Given the description of an element on the screen output the (x, y) to click on. 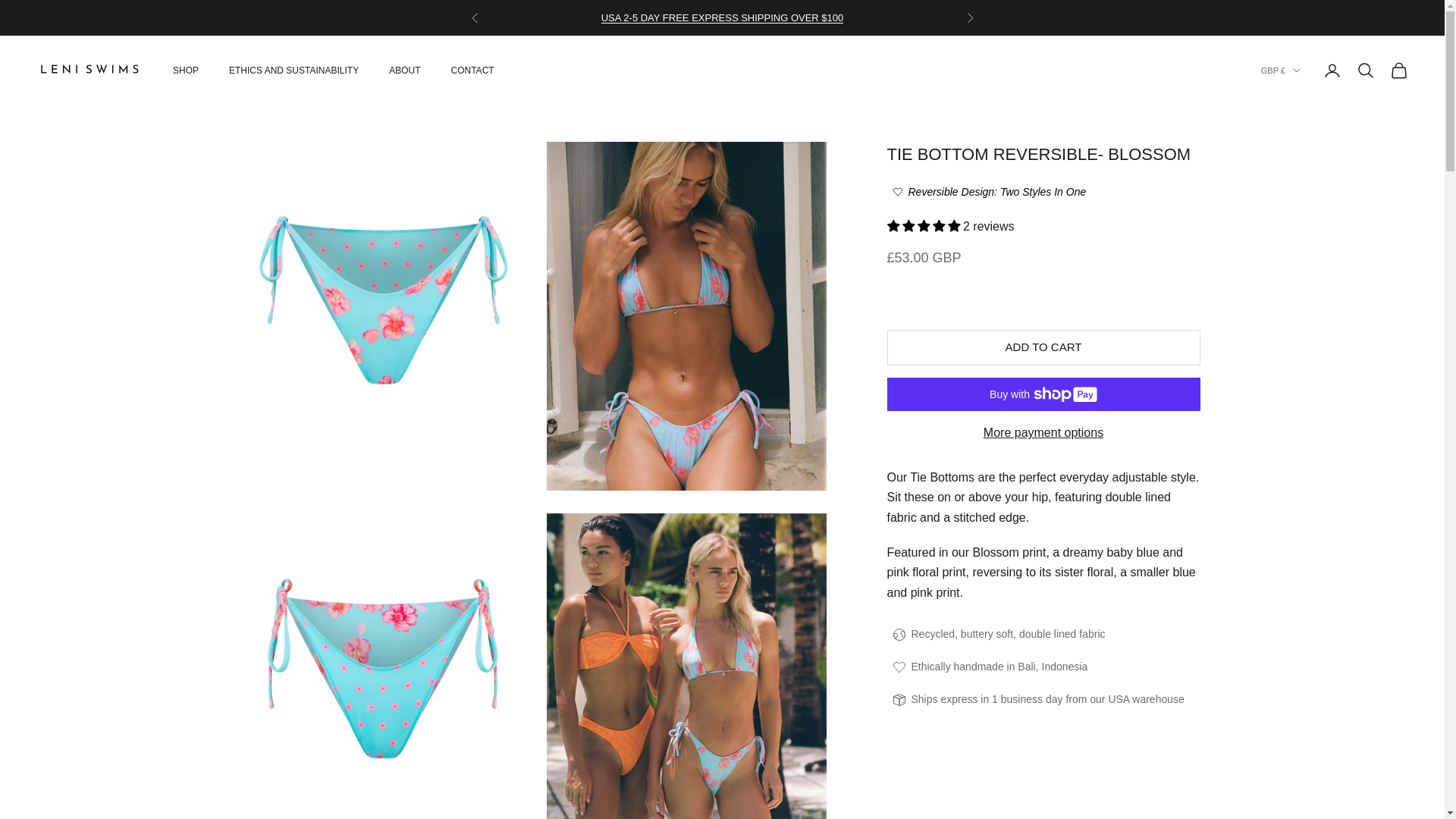
ABOUT (404, 70)
Shipping (722, 17)
ETHICS AND SUSTAINABILITY (293, 70)
Leni Swims (89, 70)
CONTACT (473, 70)
